Given the description of an element on the screen output the (x, y) to click on. 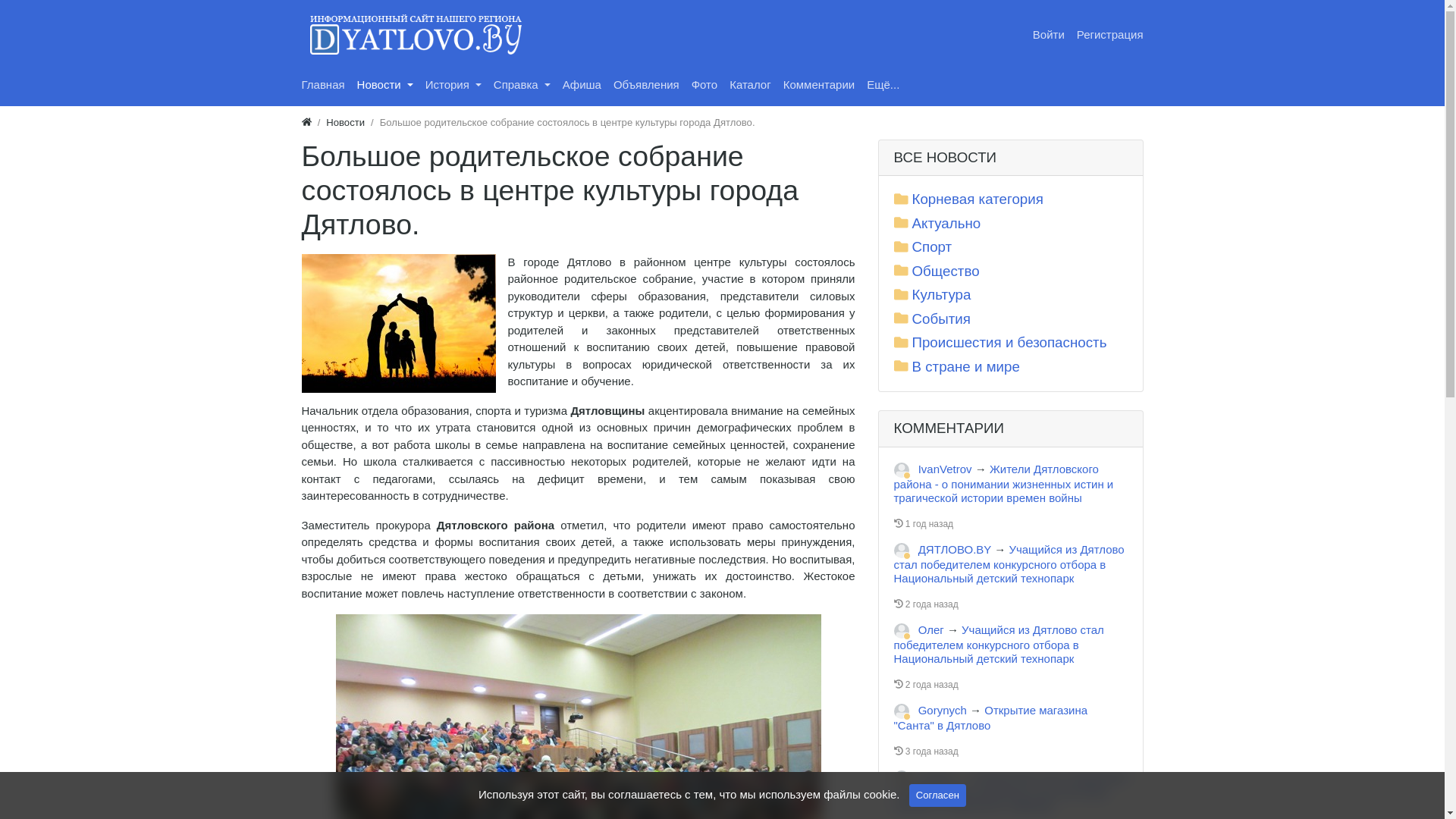
Gorynych Element type: hover (900, 710)
IvanVetrov Element type: text (945, 468)
JustaS Element type: hover (900, 777)
JustaS Element type: text (935, 776)
IvanVetrov Element type: hover (900, 469)
Gorynych Element type: text (942, 709)
